Given the description of an element on the screen output the (x, y) to click on. 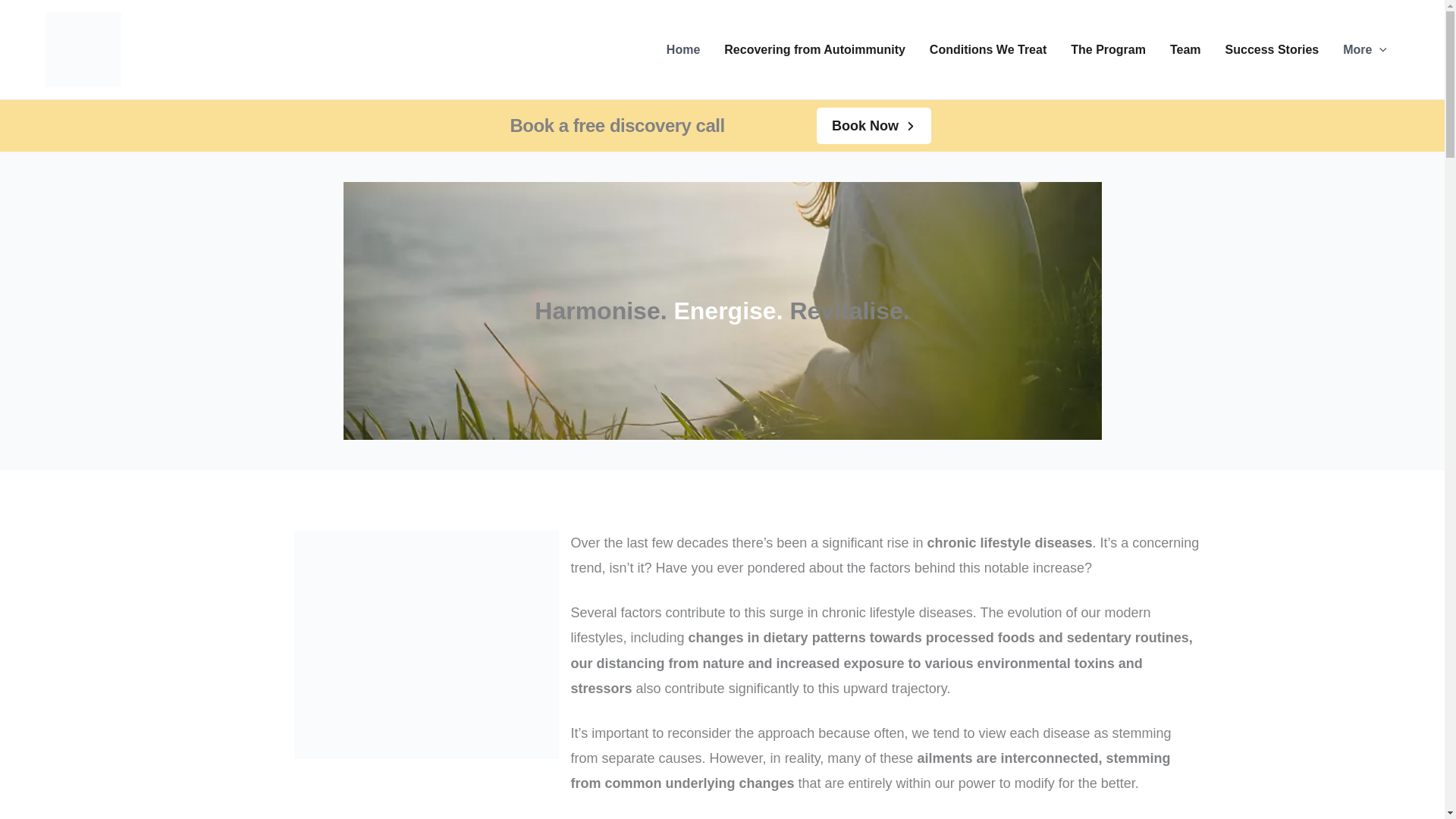
More (1364, 48)
The Program (1107, 48)
Success Stories (1272, 48)
Team (1184, 48)
Conditions We Treat (987, 48)
Home (682, 48)
Recovering from Autoimmunity (814, 48)
